Given the description of an element on the screen output the (x, y) to click on. 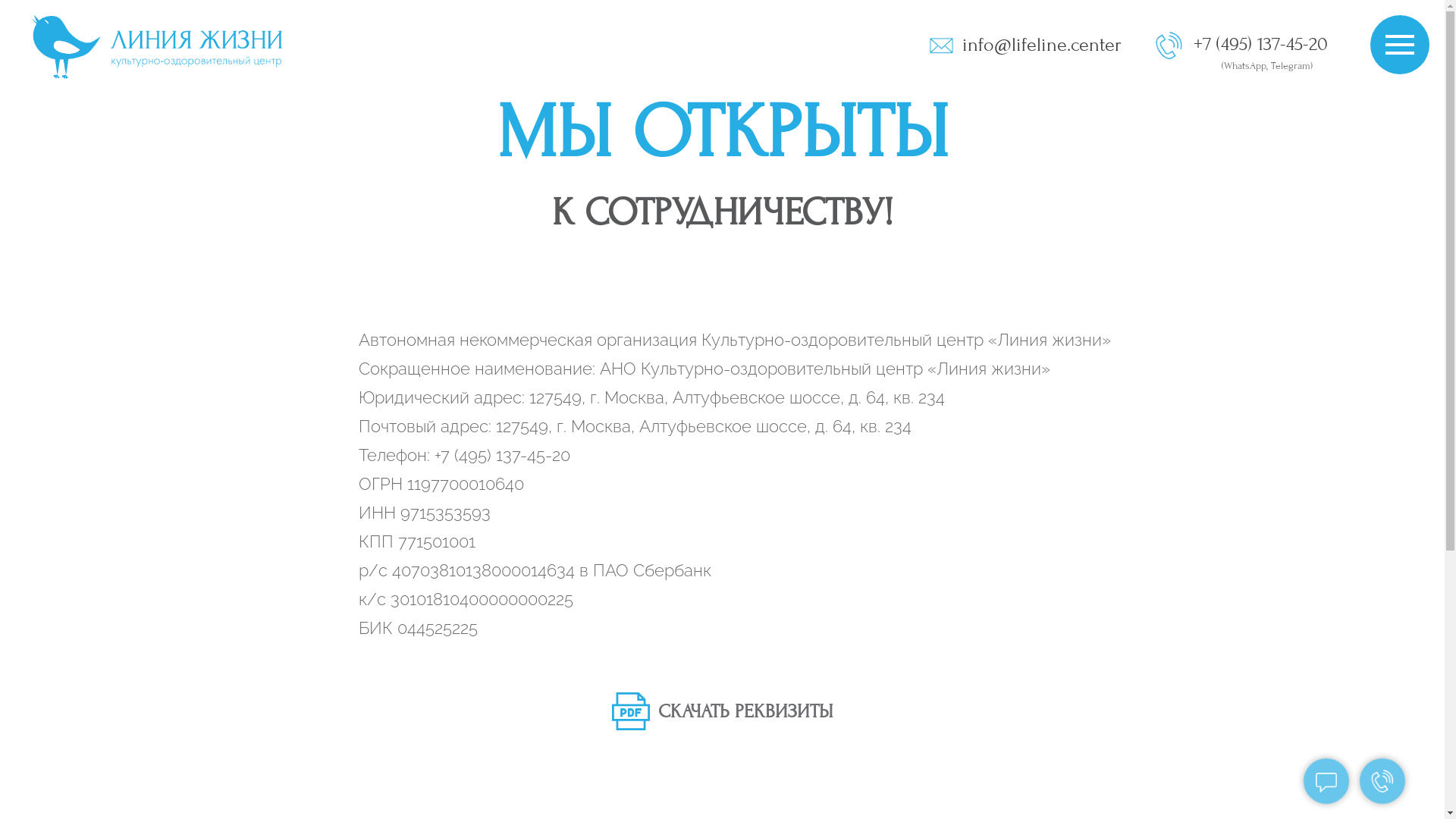
WhatsApp Element type: text (1244, 65)
info@lifeline.center Element type: text (1041, 44)
Telegram Element type: text (1290, 65)
